Given the description of an element on the screen output the (x, y) to click on. 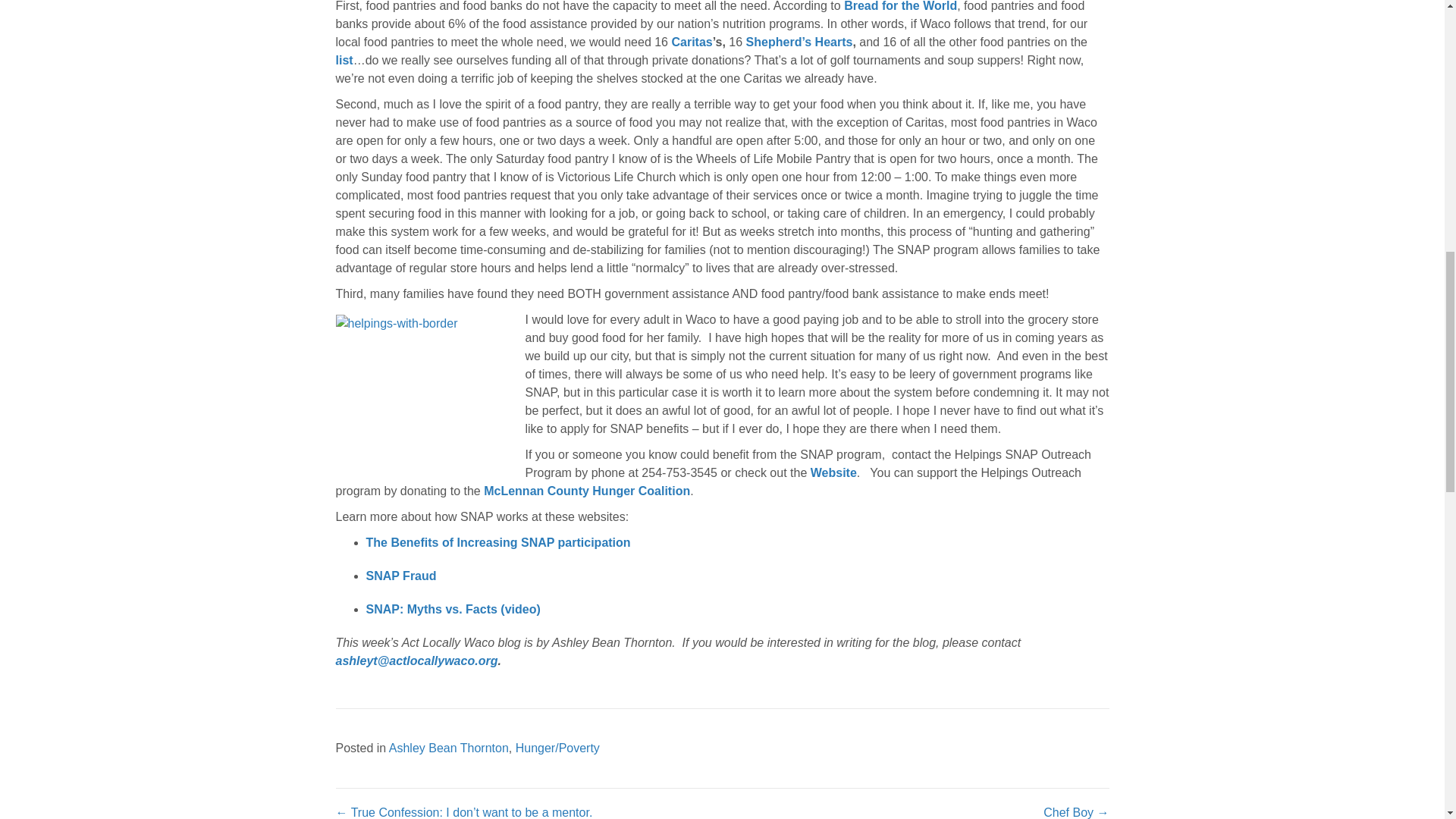
Caritas (691, 42)
The Benefits of Increasing SNAP participation  (499, 542)
list (343, 60)
McLennan County Hunger Coalition (586, 490)
Bread for the World (900, 6)
Ashley Bean Thornton (448, 748)
Website (833, 472)
SNAP Fraud (400, 575)
